Given the description of an element on the screen output the (x, y) to click on. 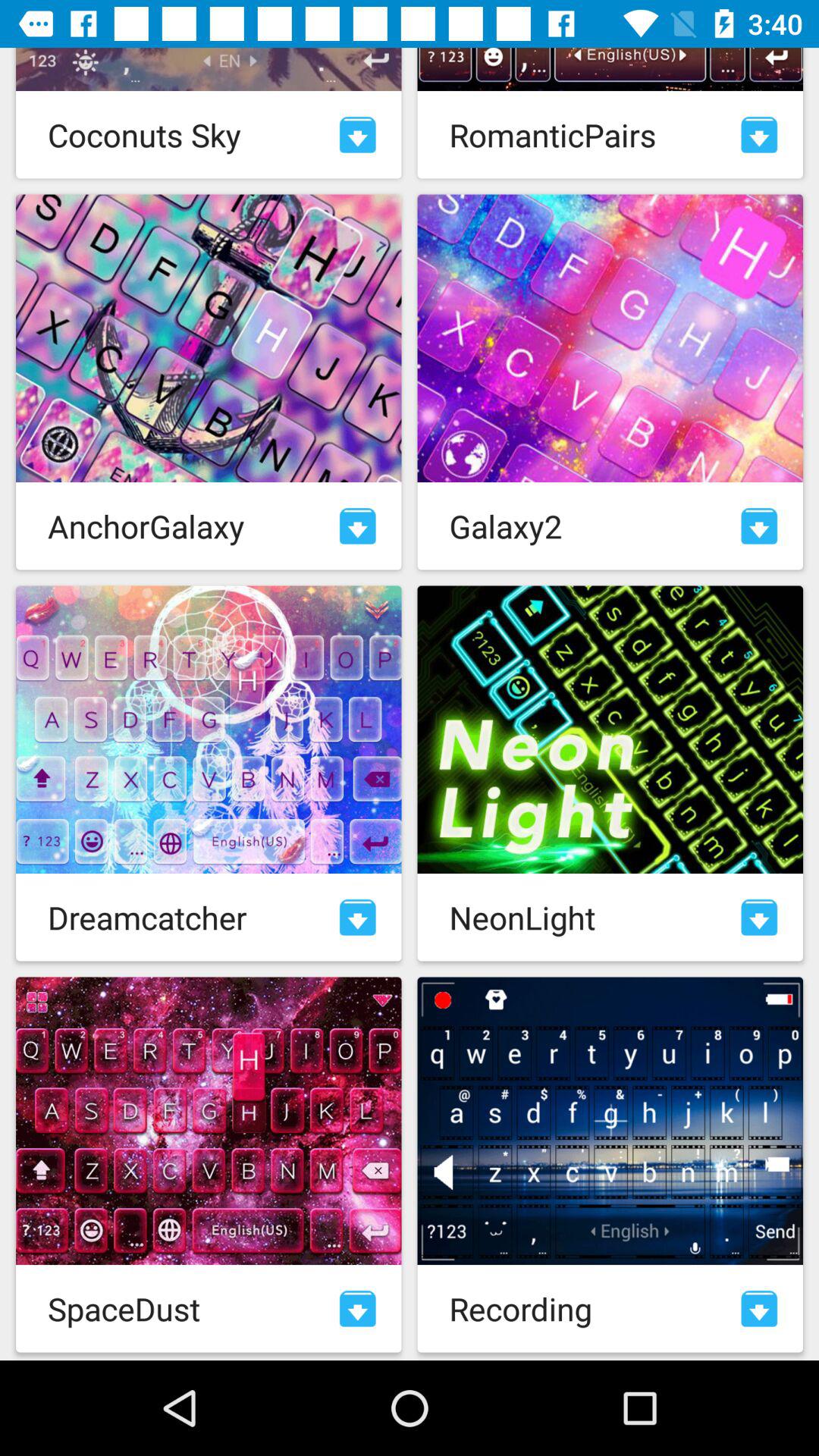
archive coconuts sky (357, 134)
